Given the description of an element on the screen output the (x, y) to click on. 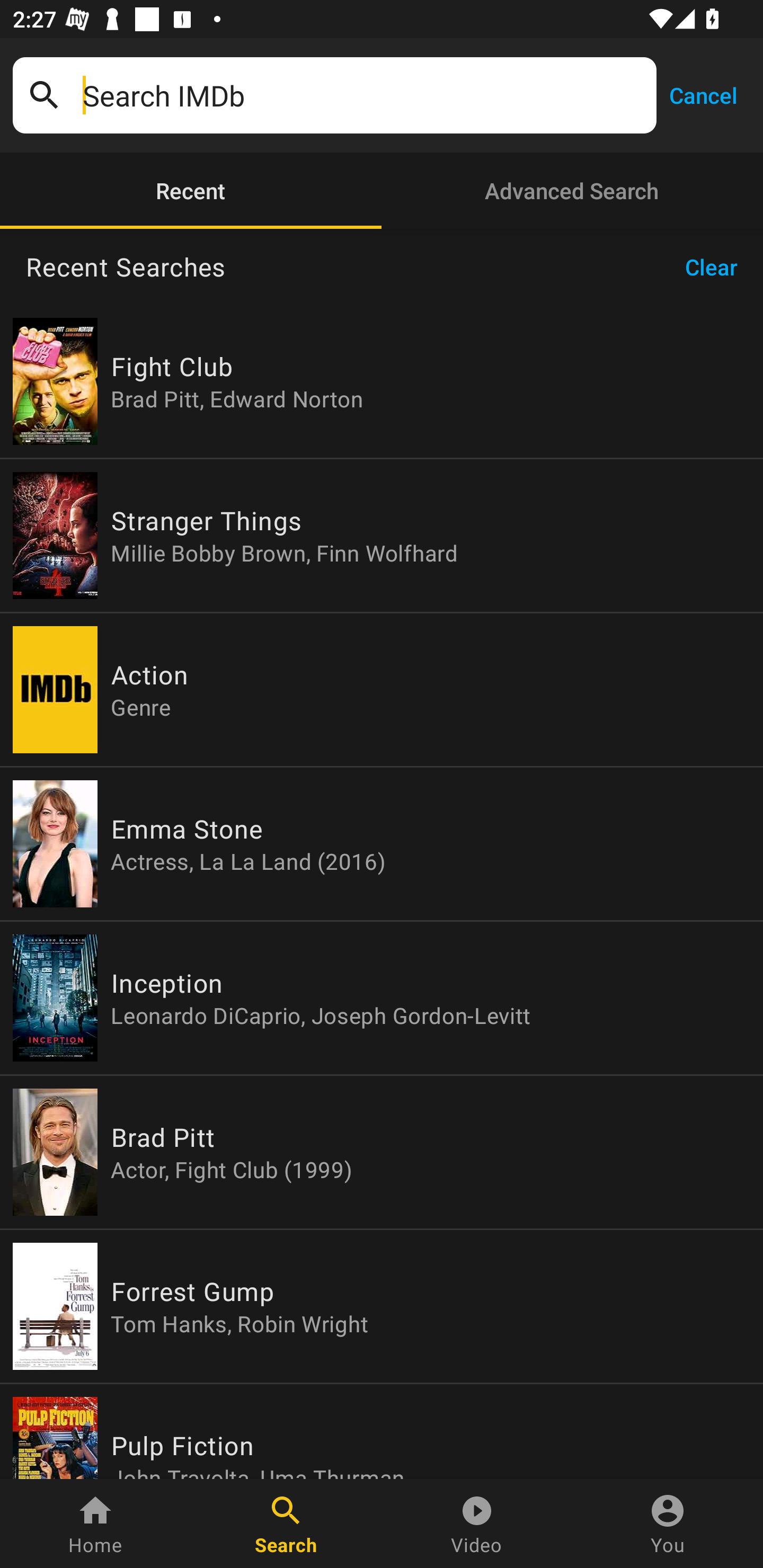
Cancel (703, 94)
Search IMDb (363, 95)
Advanced Search (572, 190)
Clear (717, 266)
Fight Club Brad Pitt, Edward Norton (381, 381)
Stranger Things Millie Bobby Brown, Finn Wolfhard (381, 535)
Action Genre (381, 689)
Emma Stone Actress, La La Land (2016) (381, 844)
Inception Leonardo DiCaprio, Joseph Gordon-Levitt (381, 997)
Brad Pitt Actor, Fight Club (1999) (381, 1151)
Forrest Gump Tom Hanks, Robin Wright (381, 1305)
Pulp Fiction John Travolta, Uma Thurman (381, 1431)
Home (95, 1523)
Video (476, 1523)
You (667, 1523)
